Given the description of an element on the screen output the (x, y) to click on. 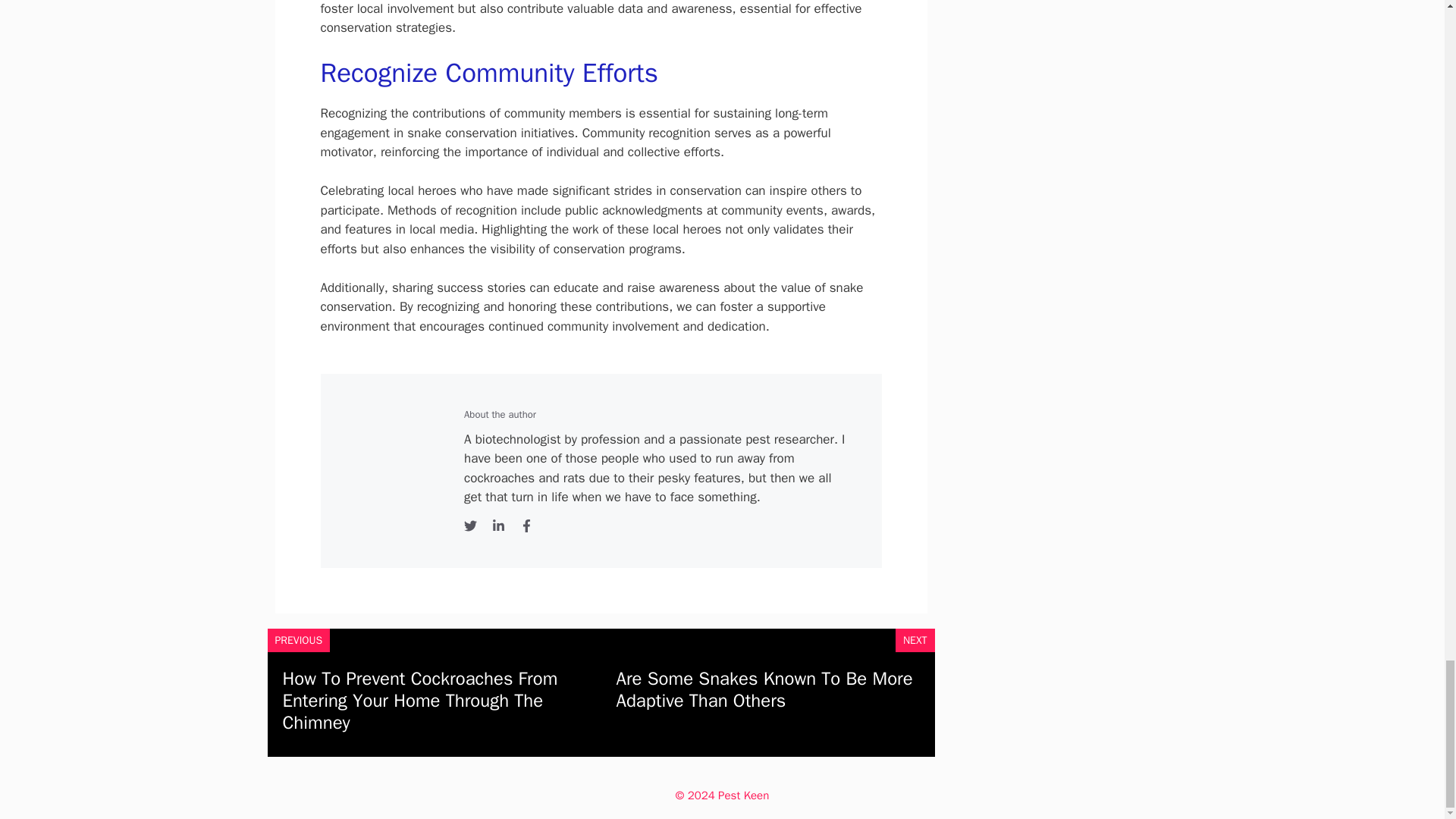
Are Some Snakes Known To Be More Adaptive Than Others (763, 689)
